Given the description of an element on the screen output the (x, y) to click on. 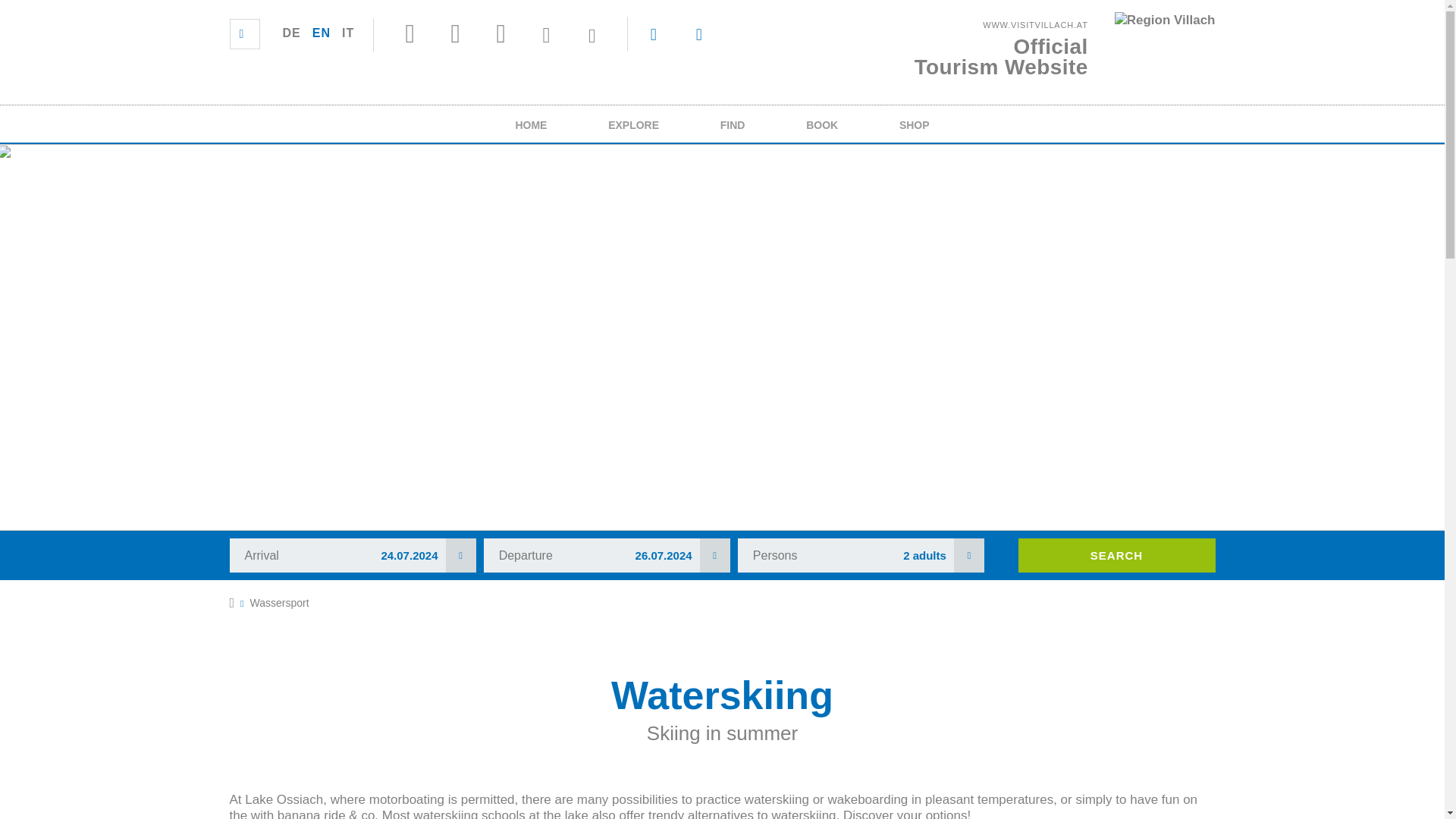
26.07.2024 (606, 555)
HOME (530, 125)
Search (1115, 555)
DE (1064, 44)
Wassersport (290, 32)
EXPLORE (278, 603)
24.07.2024 (633, 125)
EN (352, 555)
